Given the description of an element on the screen output the (x, y) to click on. 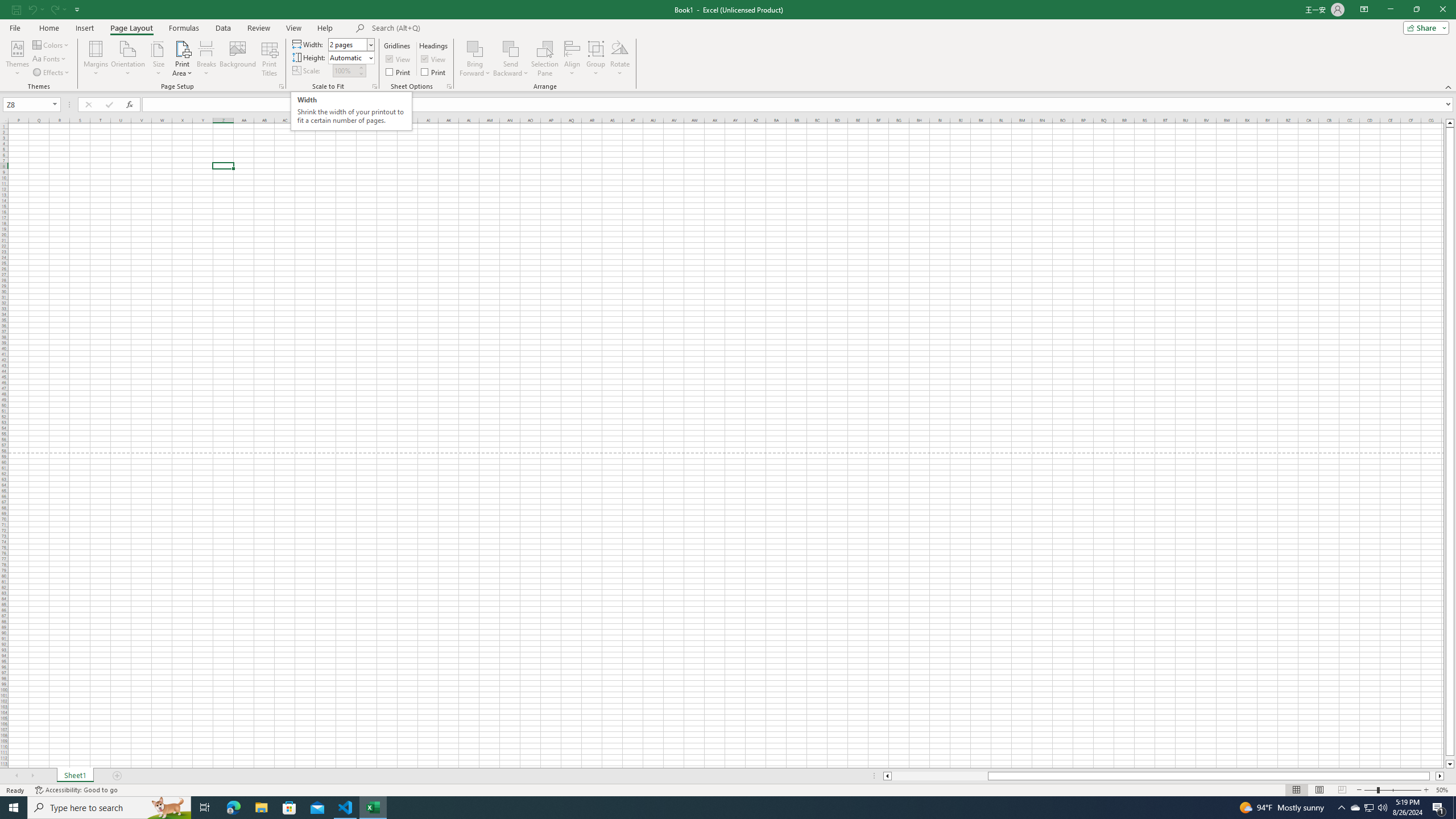
Column right (1440, 775)
Formulas (184, 28)
View (434, 58)
Height (350, 56)
Redo (57, 9)
Fonts (49, 58)
Zoom (1392, 790)
More (360, 67)
Page Setup (374, 85)
Print Titles (269, 58)
Page Layout (1318, 790)
Margins (95, 58)
Page left (939, 775)
Microsoft search (450, 28)
